Given the description of an element on the screen output the (x, y) to click on. 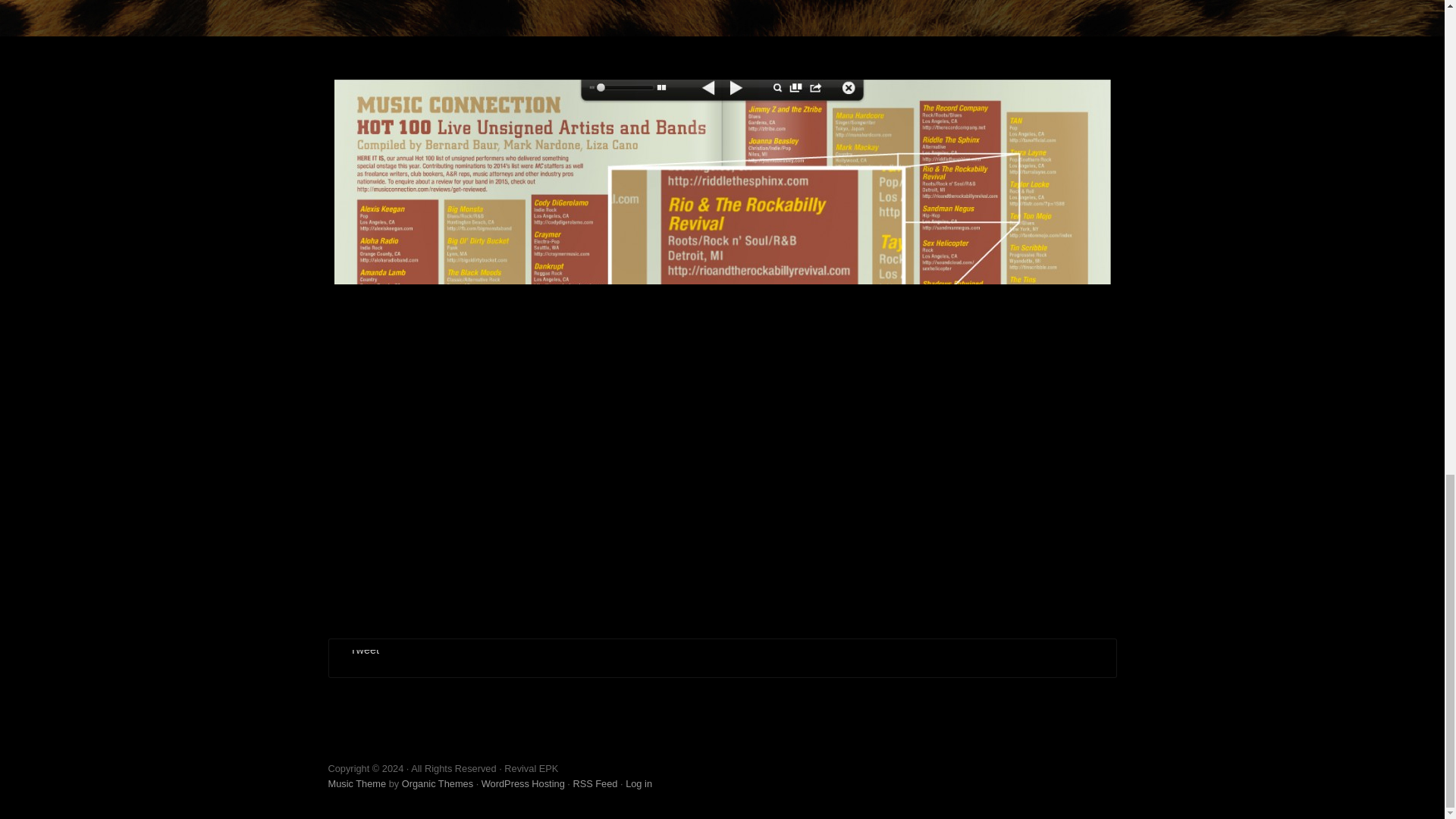
RSS Feed (594, 783)
Organic Music WordPress Theme (356, 783)
Music Theme (356, 783)
Organic Themes (437, 783)
WordPress Hosting (522, 783)
Log in (639, 783)
Premium WordPress Themes (437, 783)
WordPress Hosting (522, 783)
Tweet (364, 649)
Twitter (1103, 773)
